Given the description of an element on the screen output the (x, y) to click on. 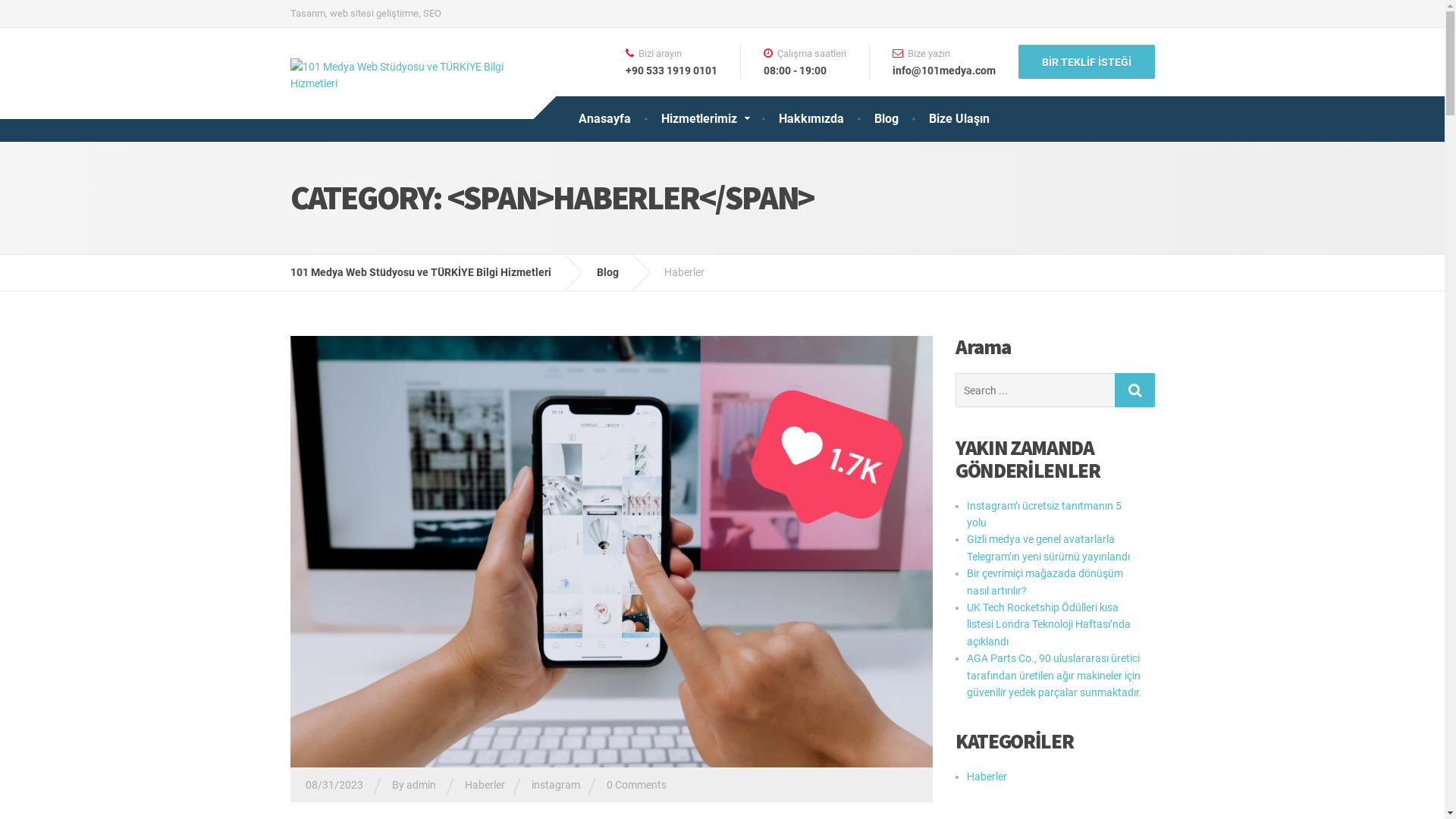
0 Comments Element type: text (636, 784)
Blog Element type: text (618, 271)
Haberler Element type: text (484, 784)
Anasayfa Element type: text (603, 118)
instagram Element type: text (554, 784)
Hizmetlerimiz Element type: text (704, 118)
Haberler Element type: text (986, 776)
Blog Element type: text (885, 118)
